Given the description of an element on the screen output the (x, y) to click on. 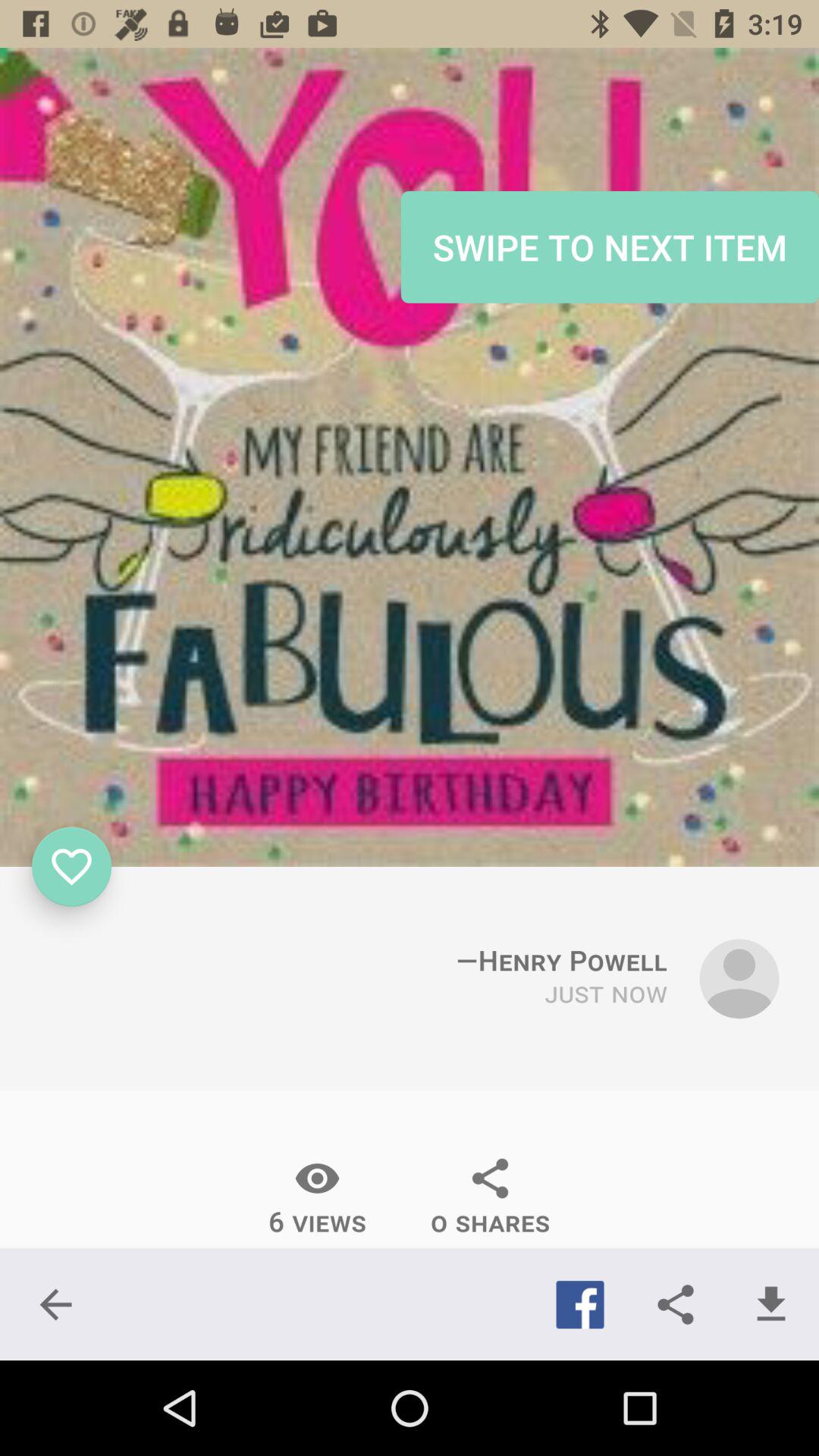
select the text which is in the light blue background (610, 246)
click on the button which is next to the share button (771, 1304)
click on people icon (739, 978)
click on favorites icon (71, 867)
click on the icon along with the text 6 views (317, 1197)
